Given the description of an element on the screen output the (x, y) to click on. 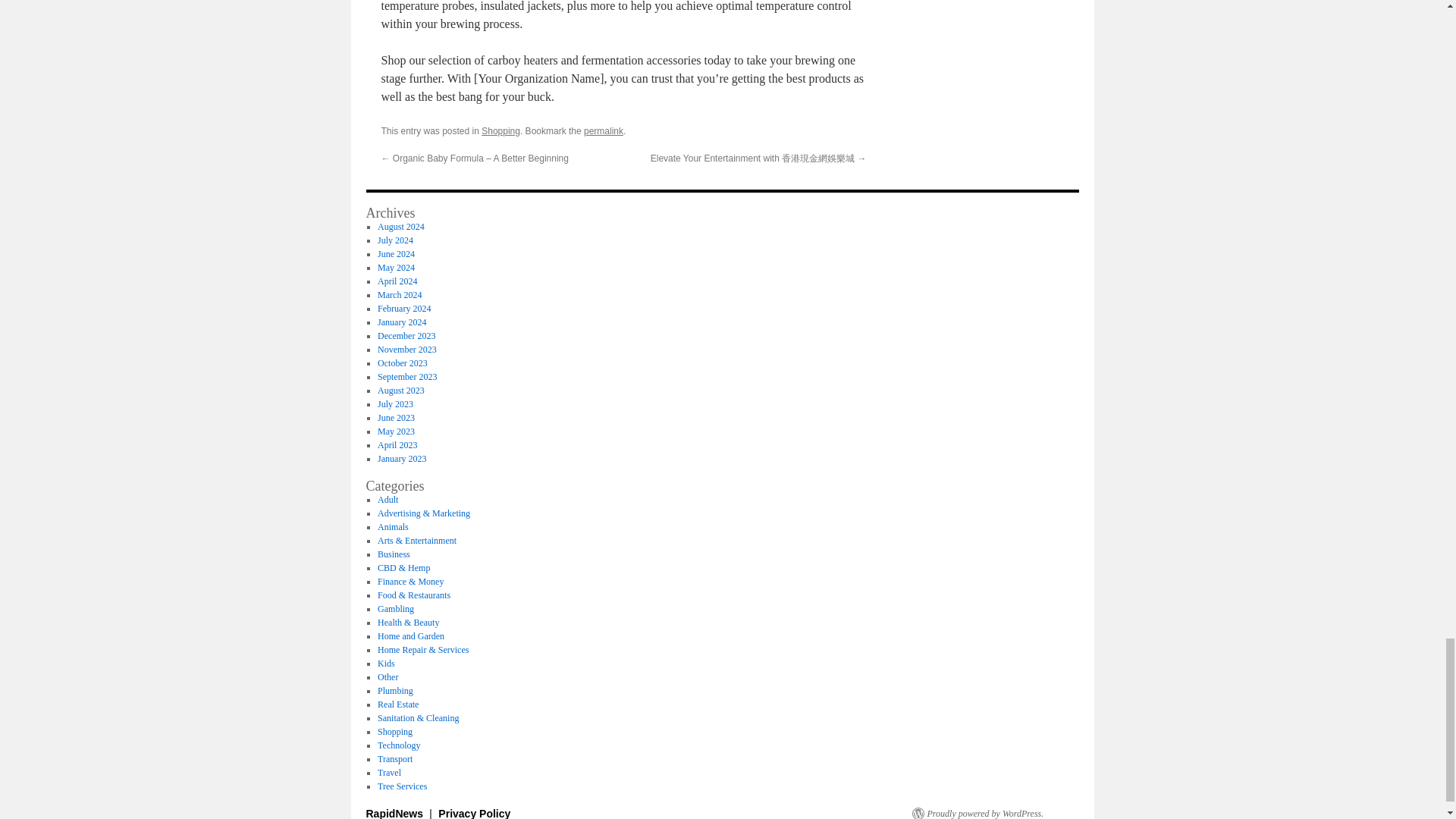
February 2024 (403, 308)
May 2024 (395, 267)
June 2024 (395, 253)
November 2023 (406, 348)
permalink (603, 131)
May 2023 (395, 430)
March 2024 (399, 294)
August 2023 (401, 389)
April 2023 (396, 444)
April 2024 (396, 281)
August 2024 (401, 226)
January 2024 (401, 321)
September 2023 (406, 376)
January 2023 (401, 458)
July 2024 (395, 240)
